Given the description of an element on the screen output the (x, y) to click on. 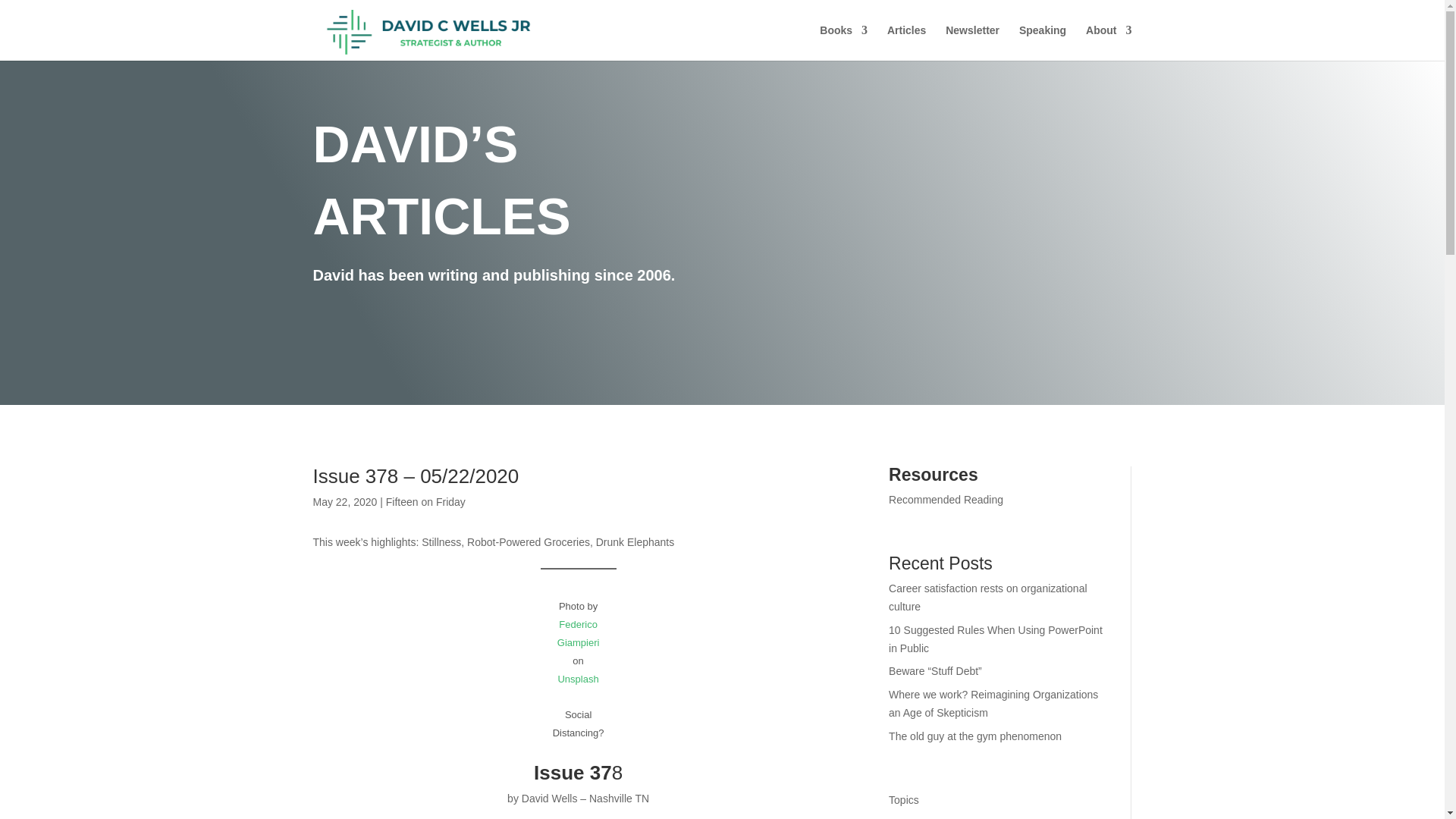
Speaking (1042, 42)
About (1108, 42)
Career satisfaction rests on organizational culture (987, 597)
Books (843, 42)
The old guy at the gym phenomenon (974, 736)
Federico Giampieri (578, 633)
Fifteen on Friday (425, 501)
Unsplash (577, 678)
Newsletter (971, 42)
